Given the description of an element on the screen output the (x, y) to click on. 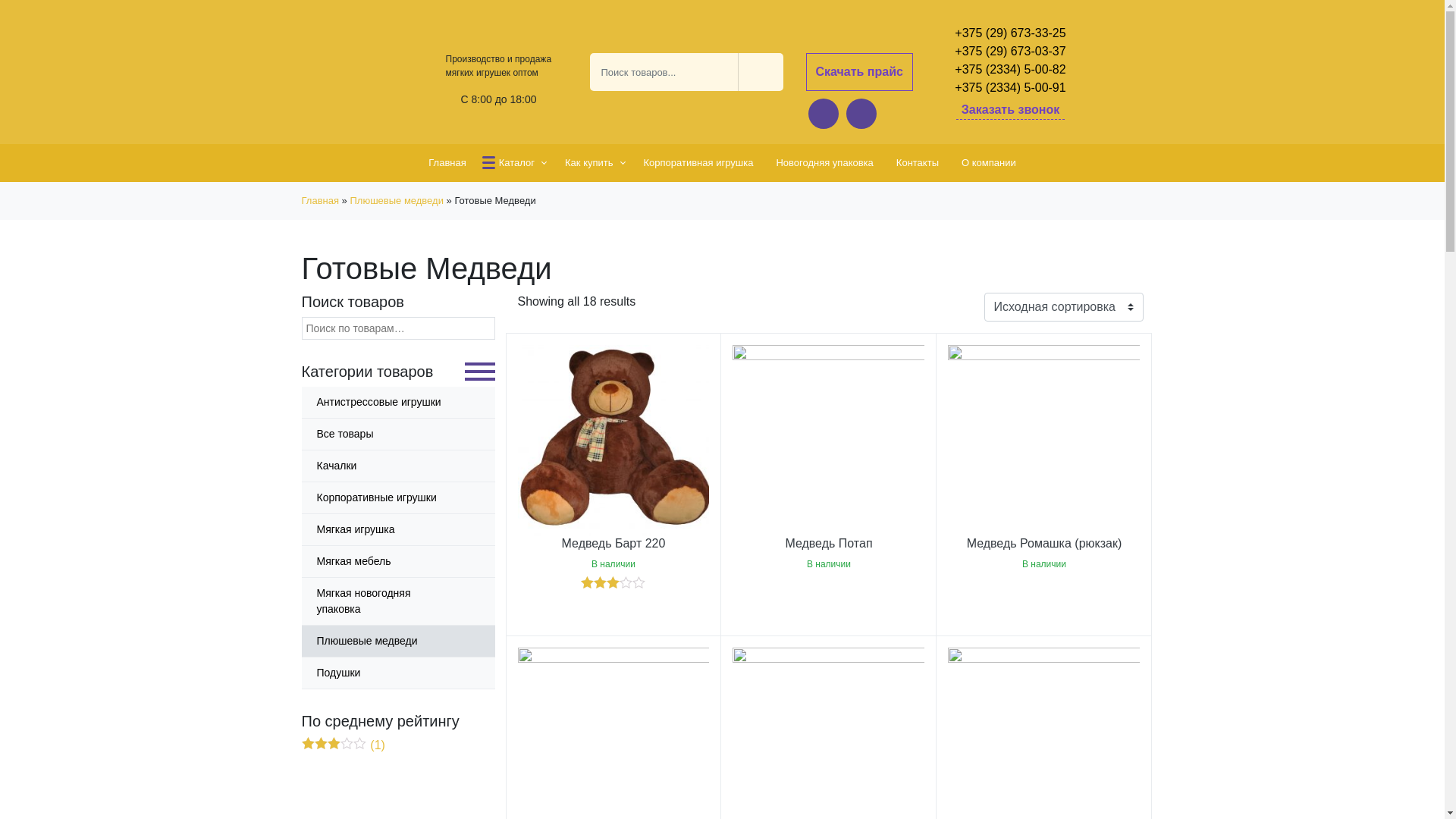
+375 (2334) 5-00-91 Element type: text (1009, 87)
+375 (29) 673-03-37 Element type: text (1009, 51)
+375 (29) 673-33-25 Element type: text (1009, 33)
+375 (2334) 5-00-82 Element type: text (1009, 69)
